Given the description of an element on the screen output the (x, y) to click on. 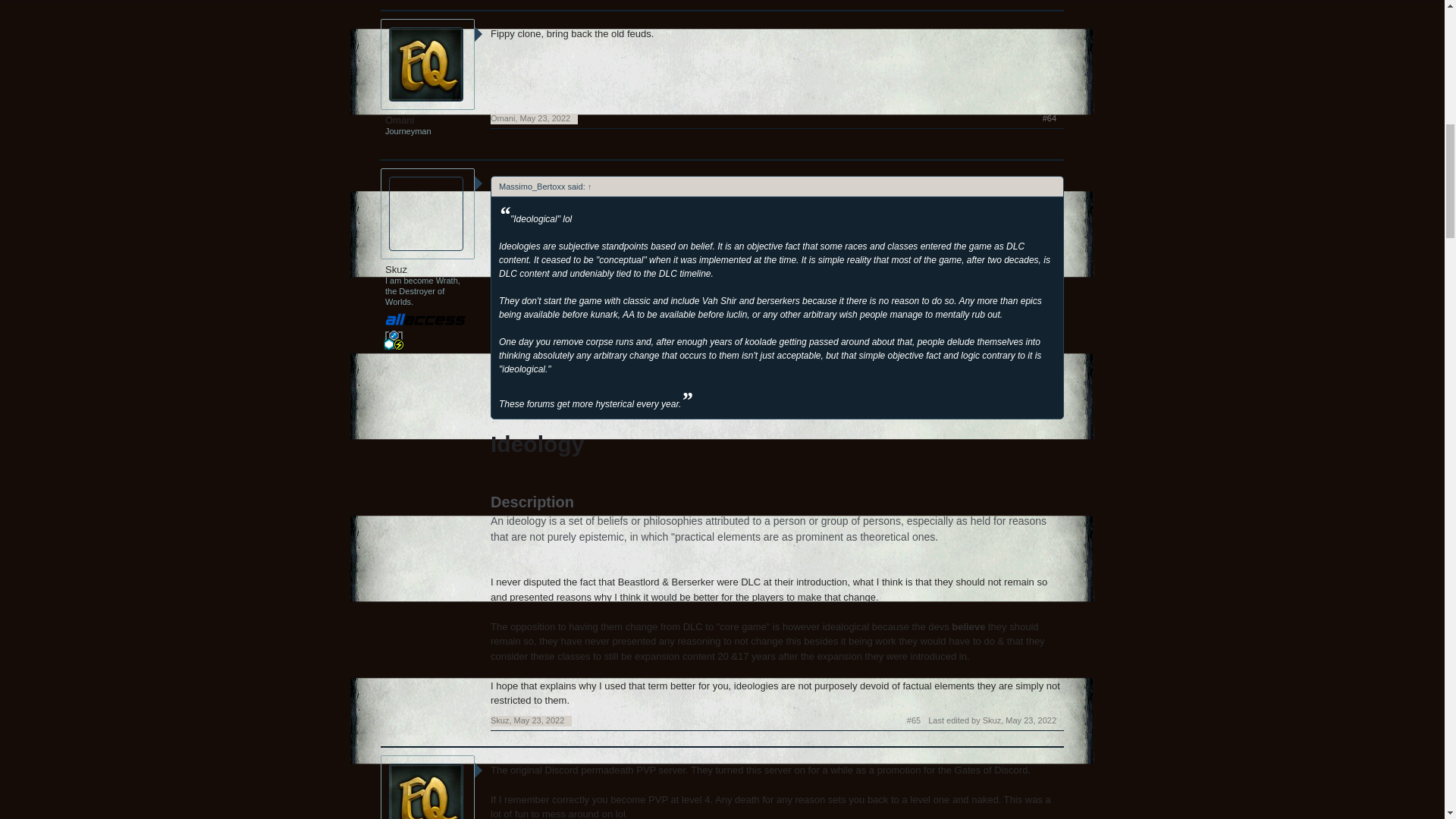
Permalink (913, 720)
Permalink (544, 117)
Omani (427, 120)
May 23, 2022 at 10:36 AM (1031, 719)
May 23, 2022 (544, 117)
Permalink (538, 719)
Omani (502, 117)
Multi SOE Game Player (394, 346)
Permalink (1049, 118)
